Given the description of an element on the screen output the (x, y) to click on. 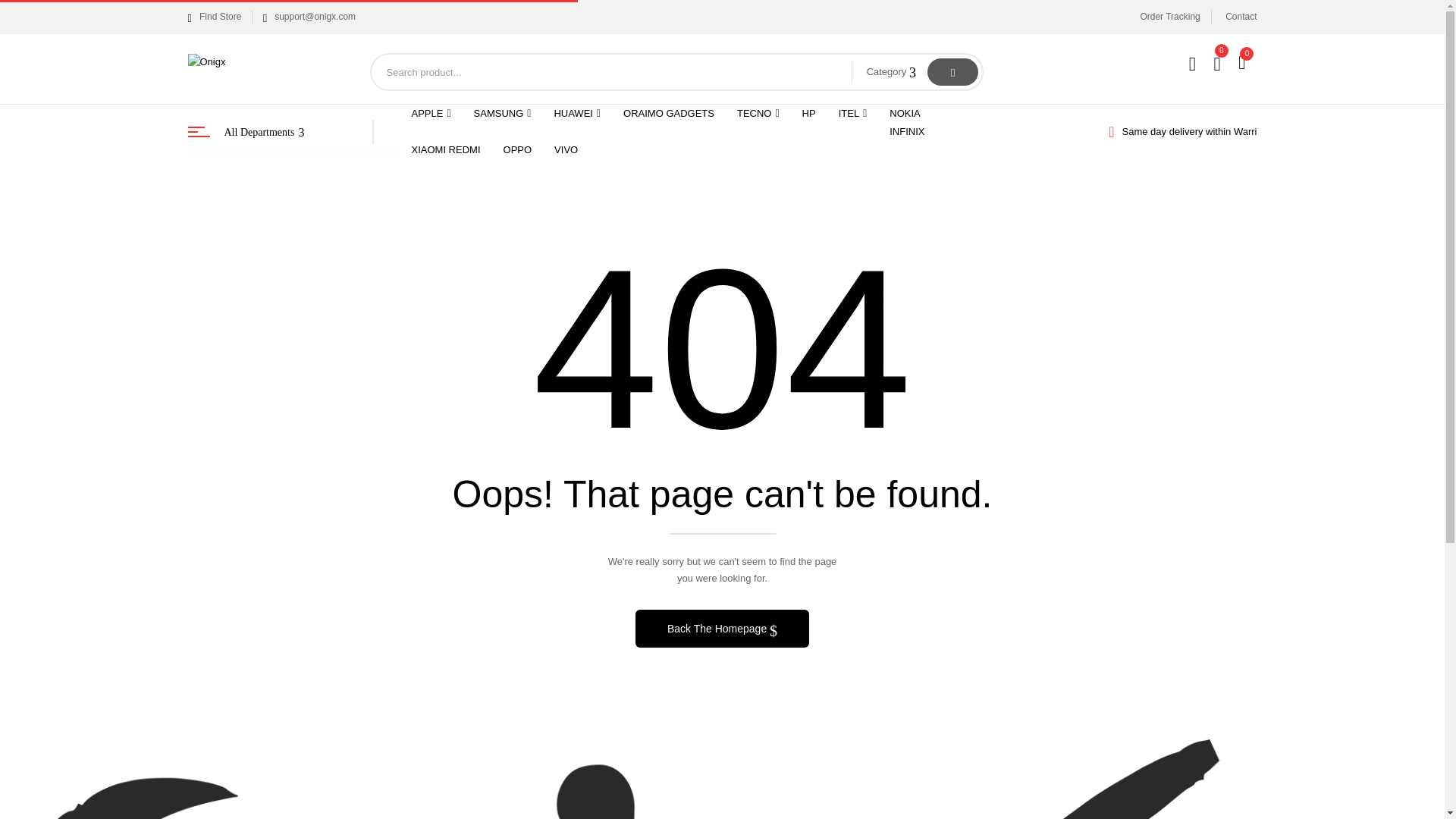
Find Store (214, 16)
Contact (1240, 16)
Order Tracking (1169, 16)
